Given the description of an element on the screen output the (x, y) to click on. 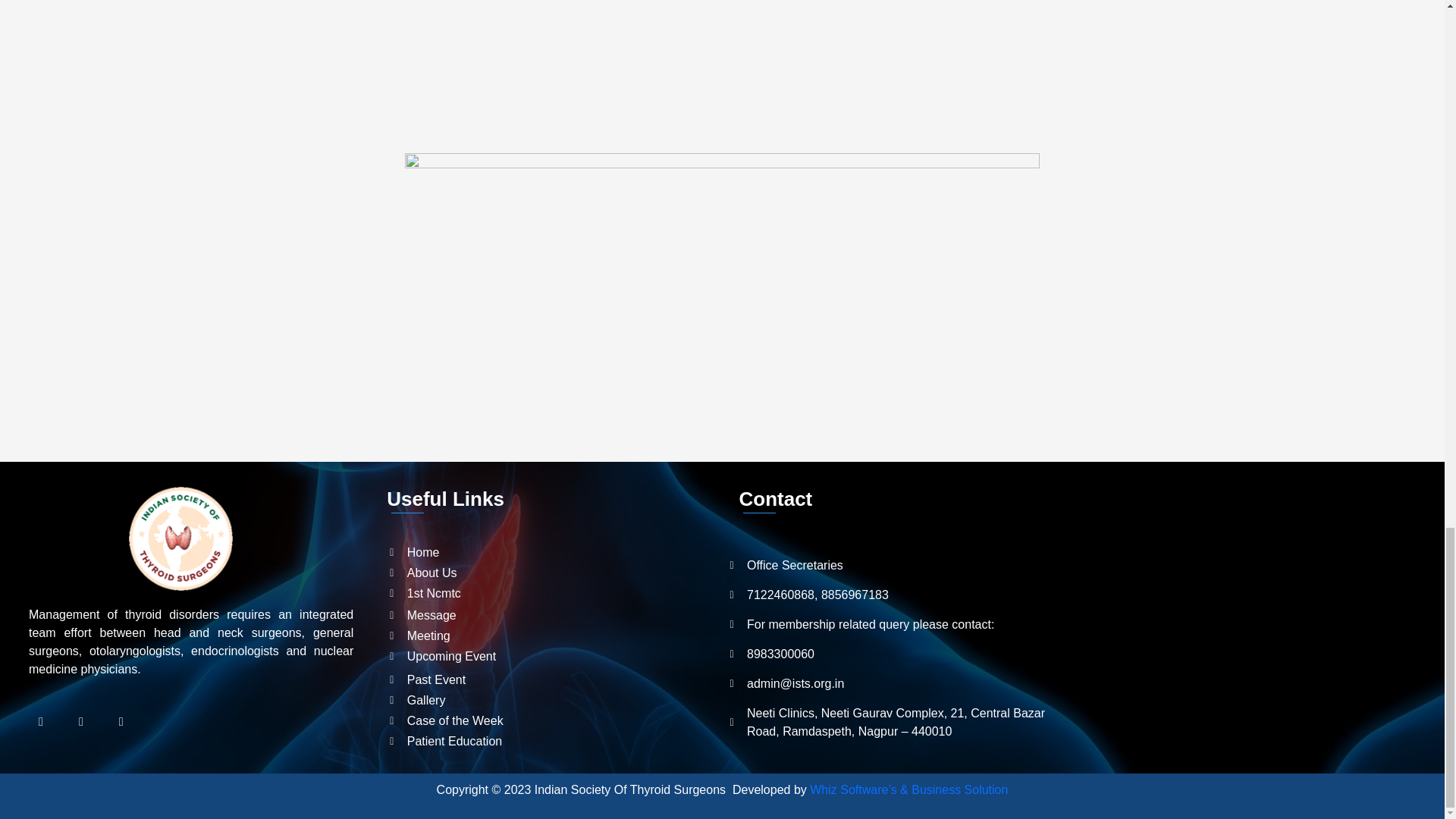
Past Event (552, 679)
About Us (552, 573)
1st Ncmtc (552, 593)
Patient Education (552, 741)
Case of the Week (552, 720)
Message (552, 615)
Gallery (552, 700)
Upcoming Event (552, 656)
Meeting (552, 636)
